Given the description of an element on the screen output the (x, y) to click on. 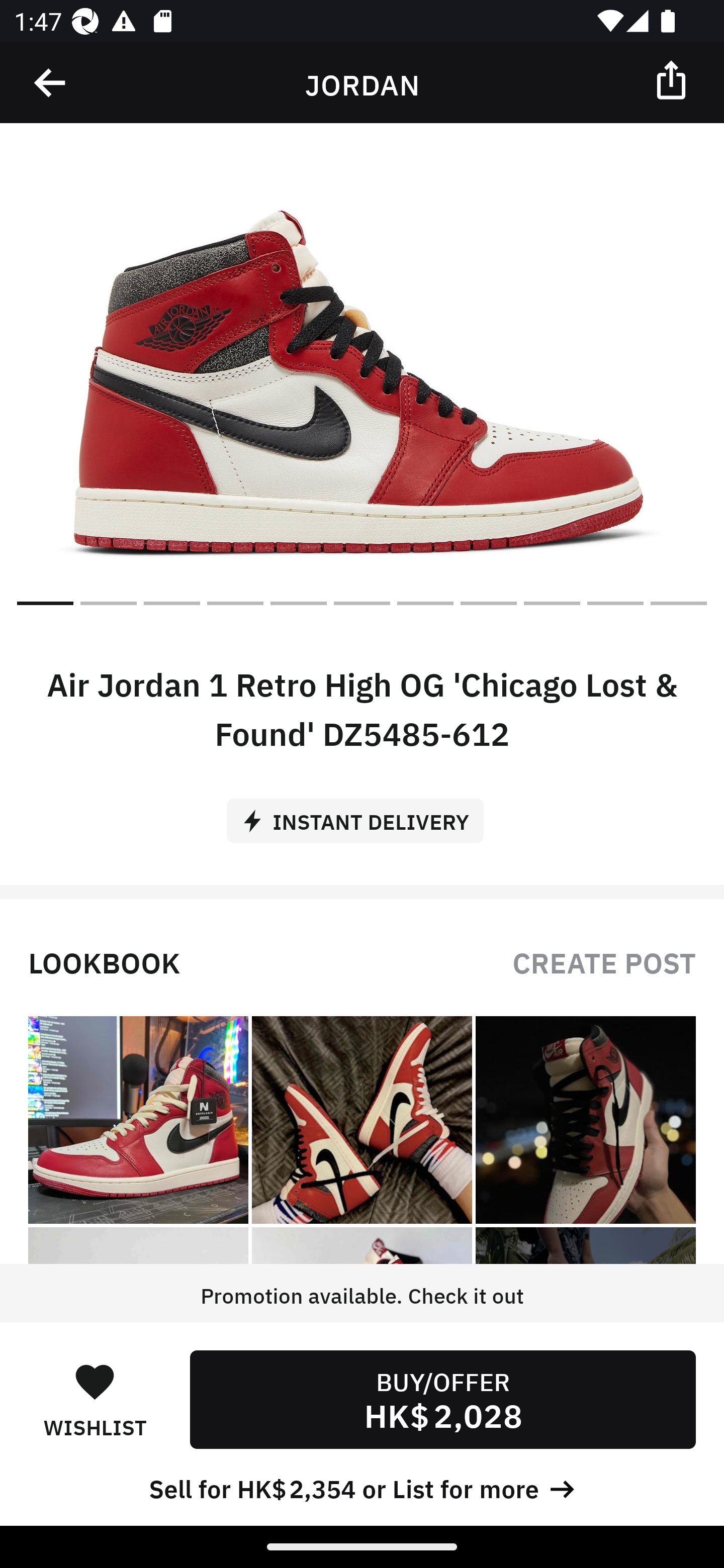
 (50, 83)
 (672, 79)
 INSTANT DELIVERY (362, 813)
CREATE POST (603, 960)
BUY/OFFER HK$ 2,028 (442, 1399)
󰋑 (94, 1380)
Sell for HK$ 2,354 or List for more (361, 1486)
